Given the description of an element on the screen output the (x, y) to click on. 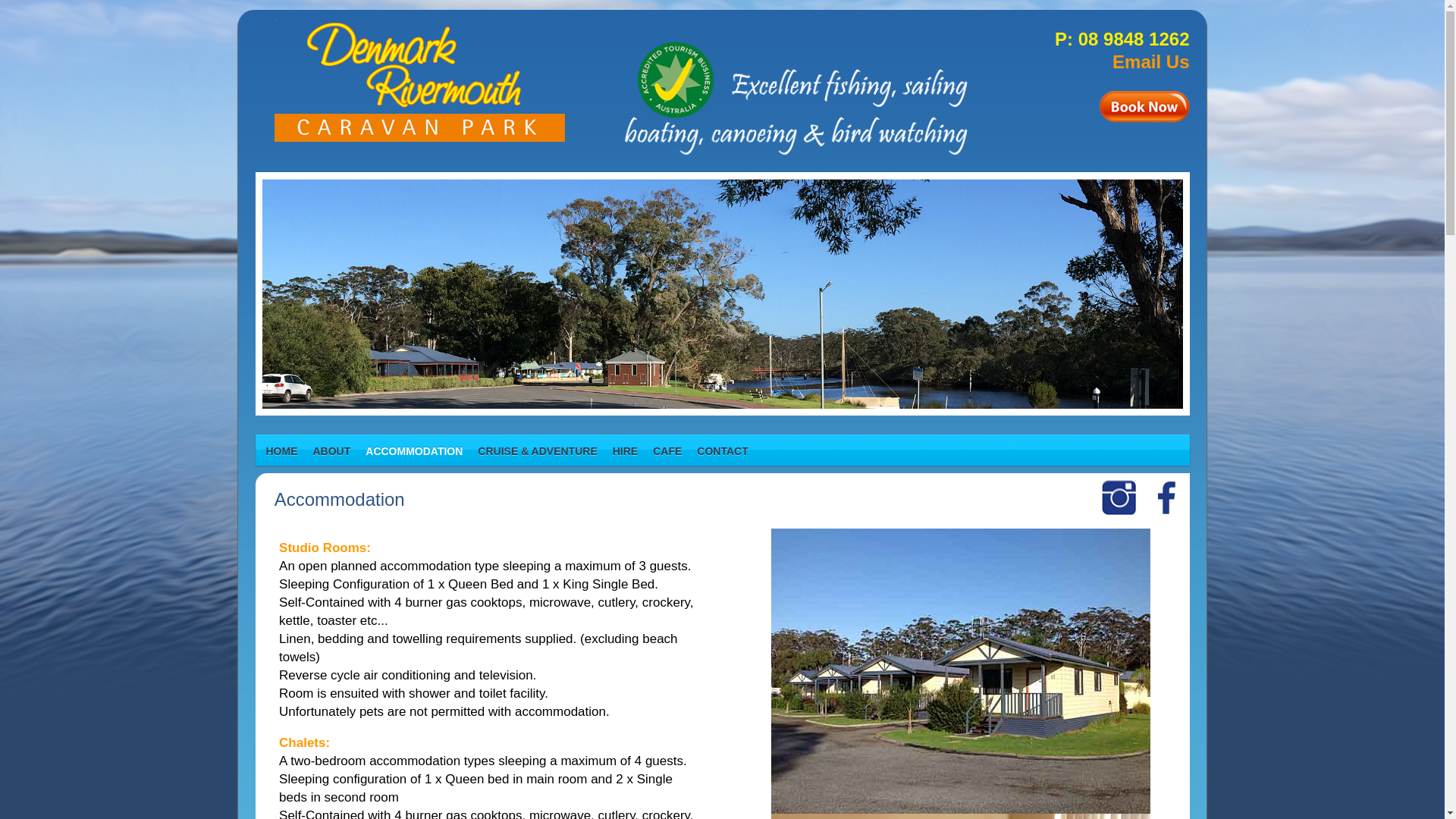
HIRE Element type: text (625, 449)
CRUISE & ADVENTURE Element type: text (537, 449)
Email Us Element type: text (1150, 61)
CONTACT Element type: text (722, 449)
CAFE Element type: text (667, 449)
Studio Rooms: Element type: text (324, 547)
HOME Element type: text (280, 449)
ABOUT Element type: text (330, 449)
ACCOMMODATION Element type: text (413, 450)
Chalets: Element type: text (304, 742)
